Given the description of an element on the screen output the (x, y) to click on. 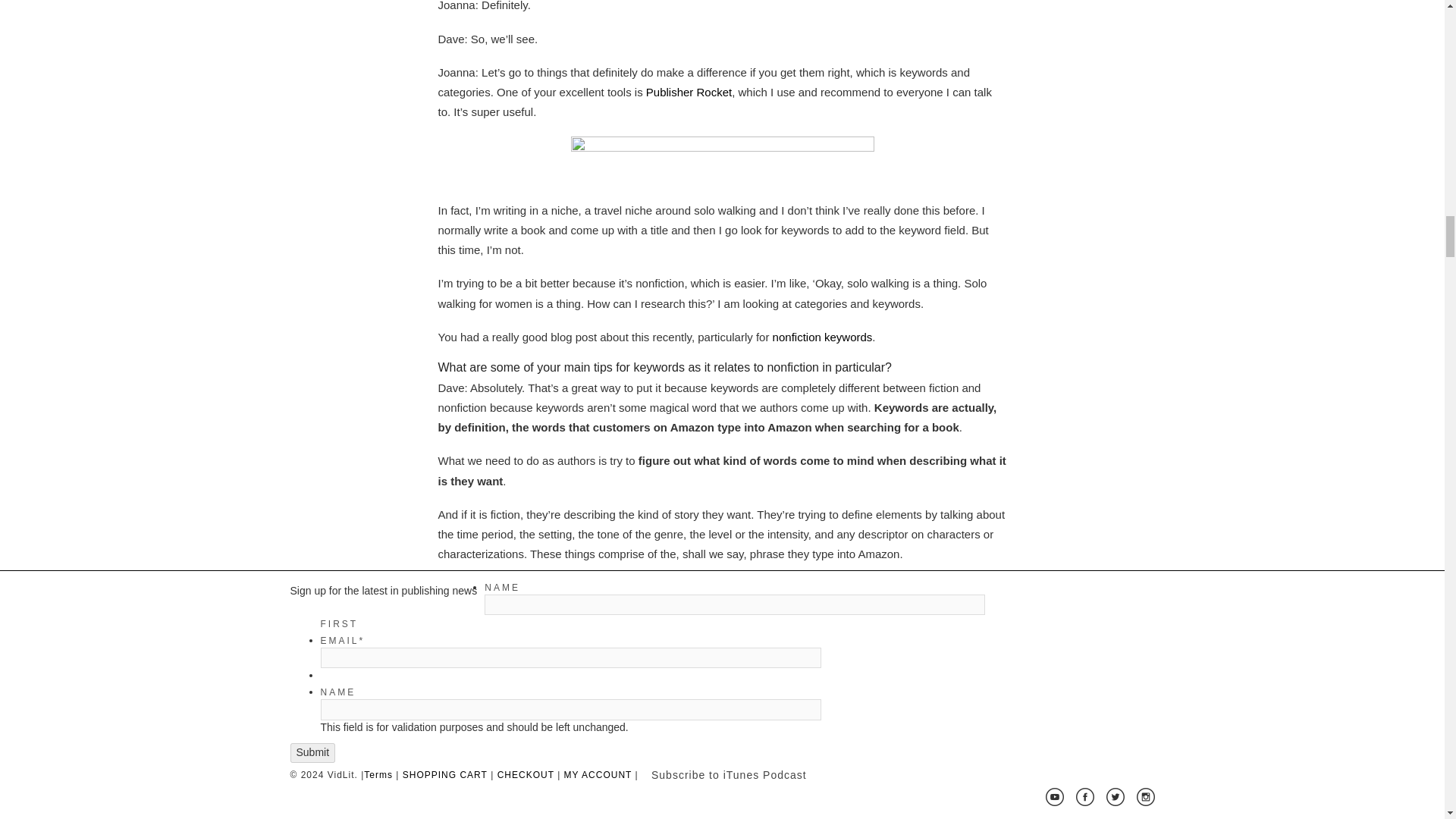
nonfiction keywords (822, 336)
Publisher Rocket (689, 91)
